Given the description of an element on the screen output the (x, y) to click on. 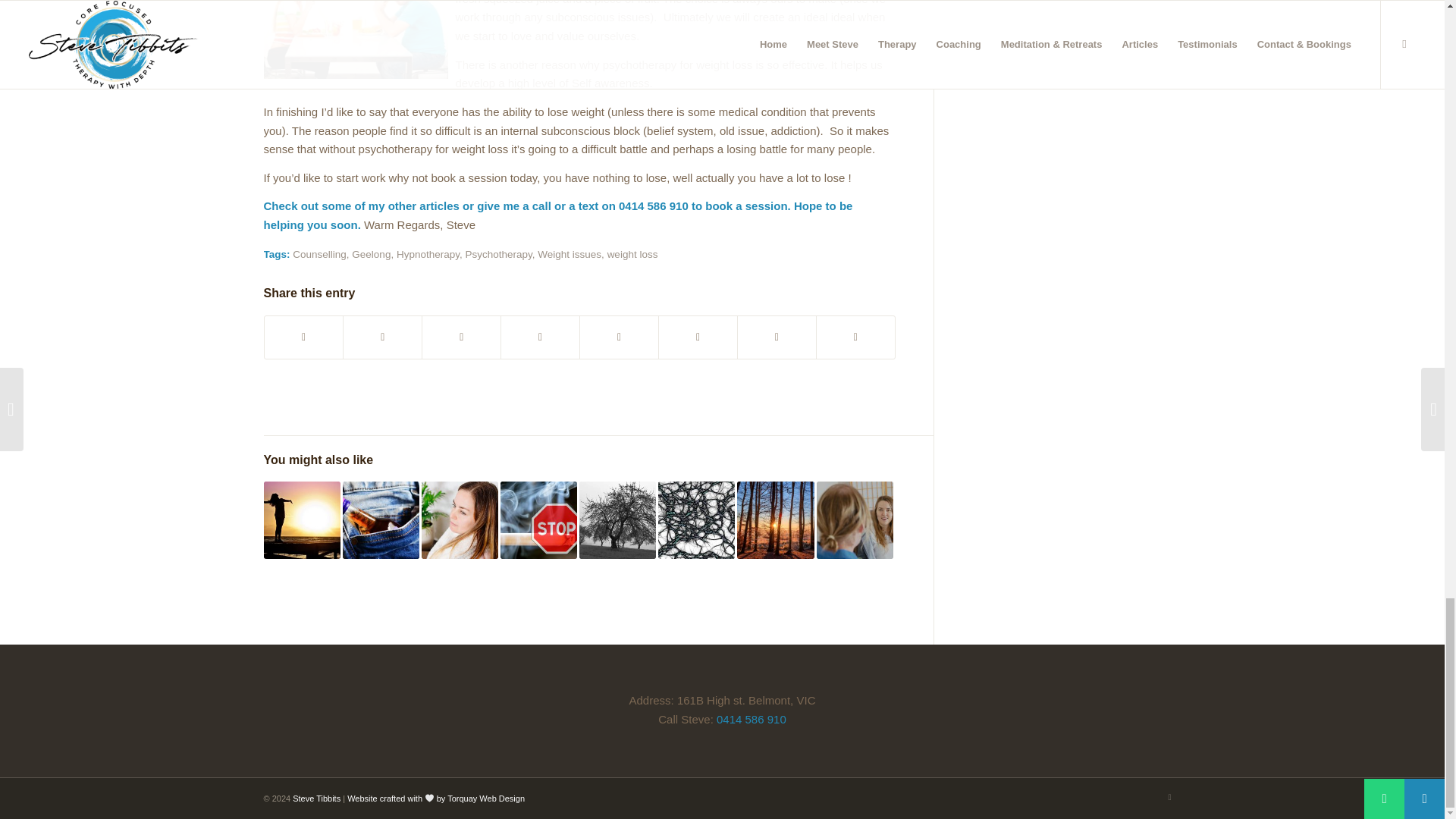
Weight issues (569, 254)
Psychotherapy (497, 254)
Geelong (371, 254)
Hypnotherapy (428, 254)
weight loss (632, 254)
Counselling (319, 254)
